Given the description of an element on the screen output the (x, y) to click on. 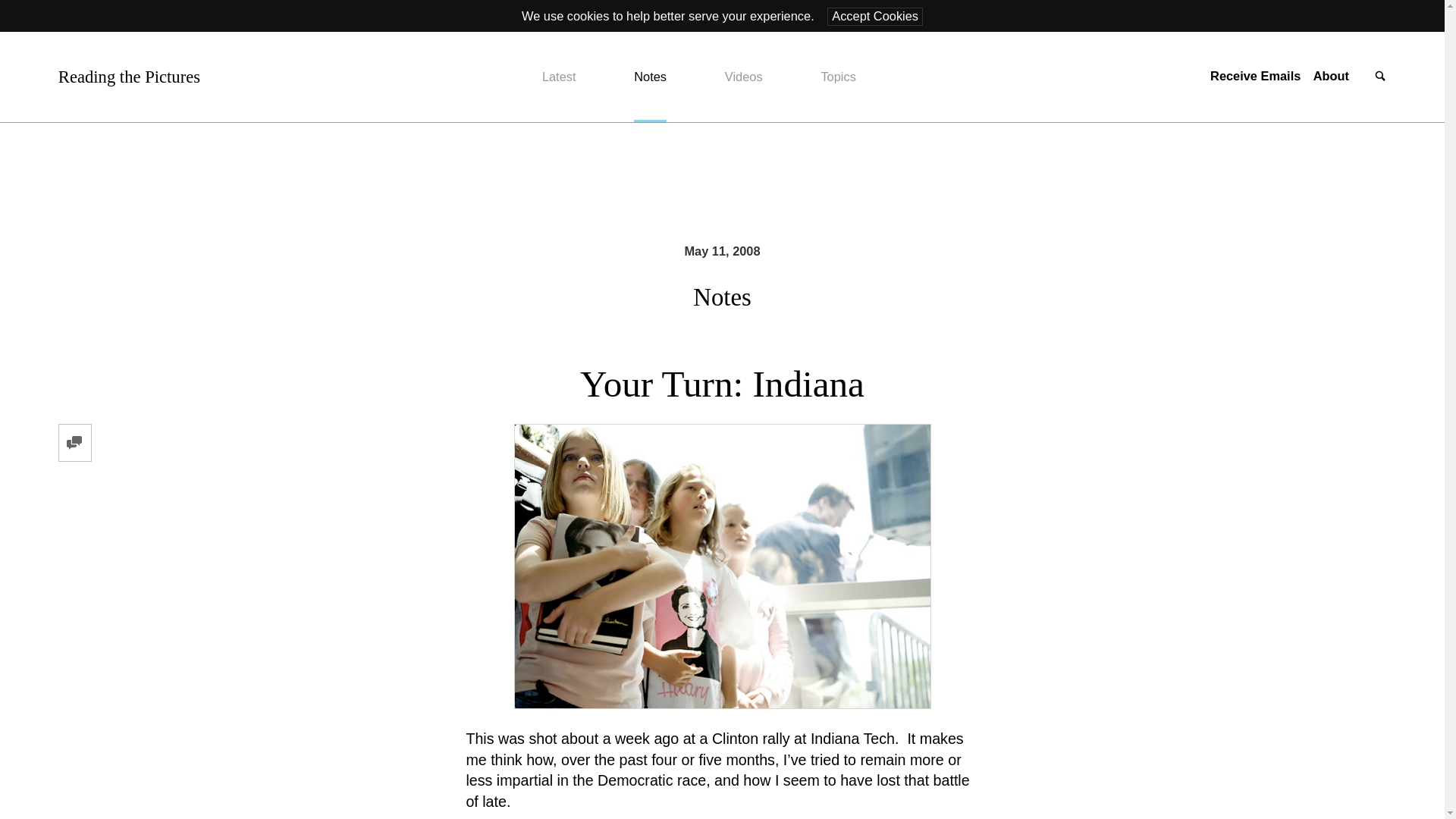
About (1331, 75)
search (1380, 78)
Reading the Pictures (129, 76)
Receive Emails (1254, 75)
Newsletter Signup (1254, 75)
Accept Cookies (875, 16)
About (1331, 75)
Reading the Pictures (129, 76)
